Given the description of an element on the screen output the (x, y) to click on. 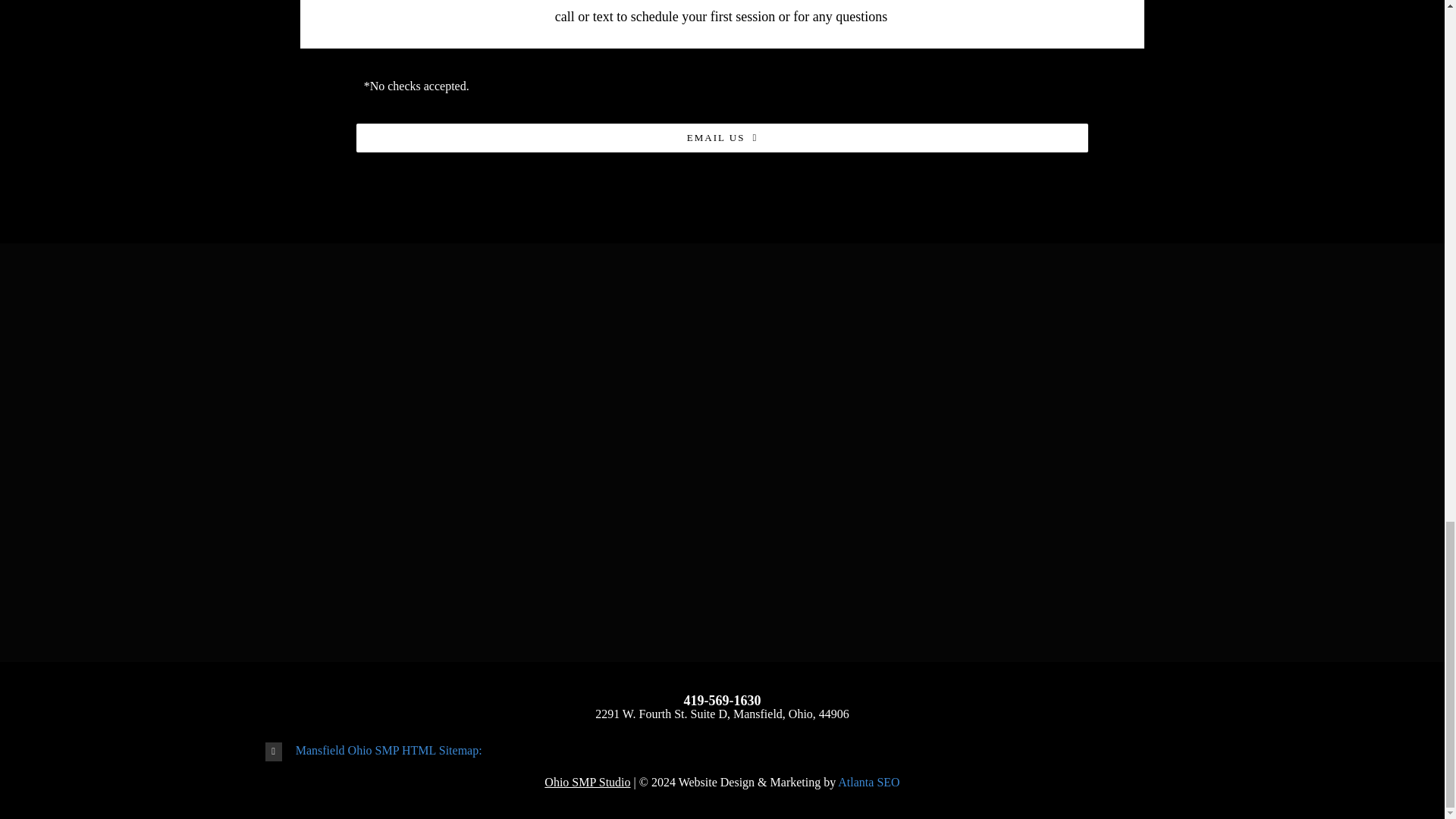
Atlanta SEO (868, 781)
EMAIL US (721, 137)
Mansfield Ohio SMP HTML Sitemap: (721, 751)
Ohio SMP Studio (587, 781)
